Given the description of an element on the screen output the (x, y) to click on. 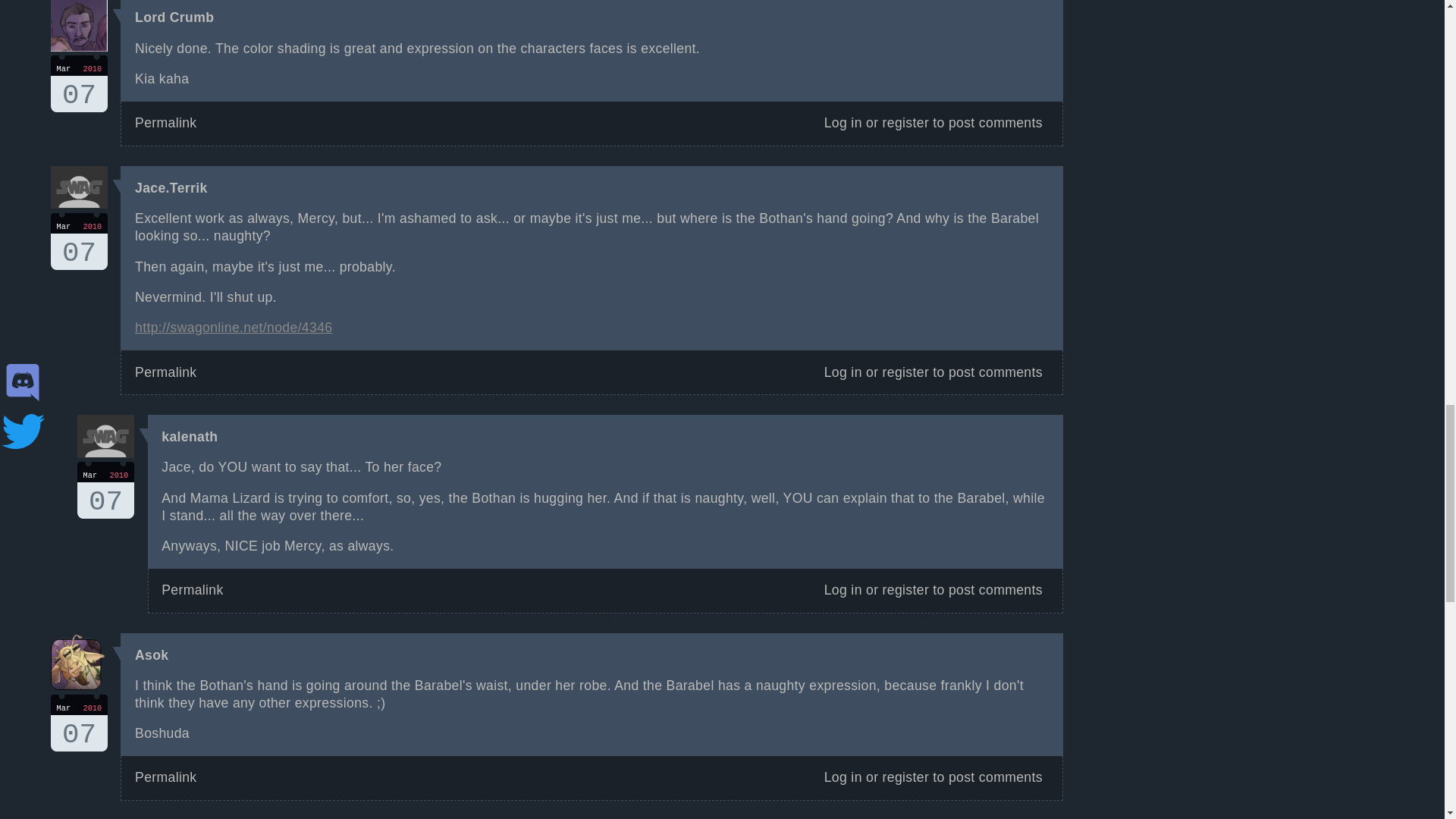
register (905, 122)
Permalink (165, 371)
View user profile. (171, 187)
View user profile. (188, 436)
Permalink (78, 83)
Permalink (191, 589)
View user profile. (165, 122)
Jace.Terrik (151, 654)
register (78, 722)
Log in (171, 187)
View user profile. (905, 589)
Log in (842, 122)
